Given the description of an element on the screen output the (x, y) to click on. 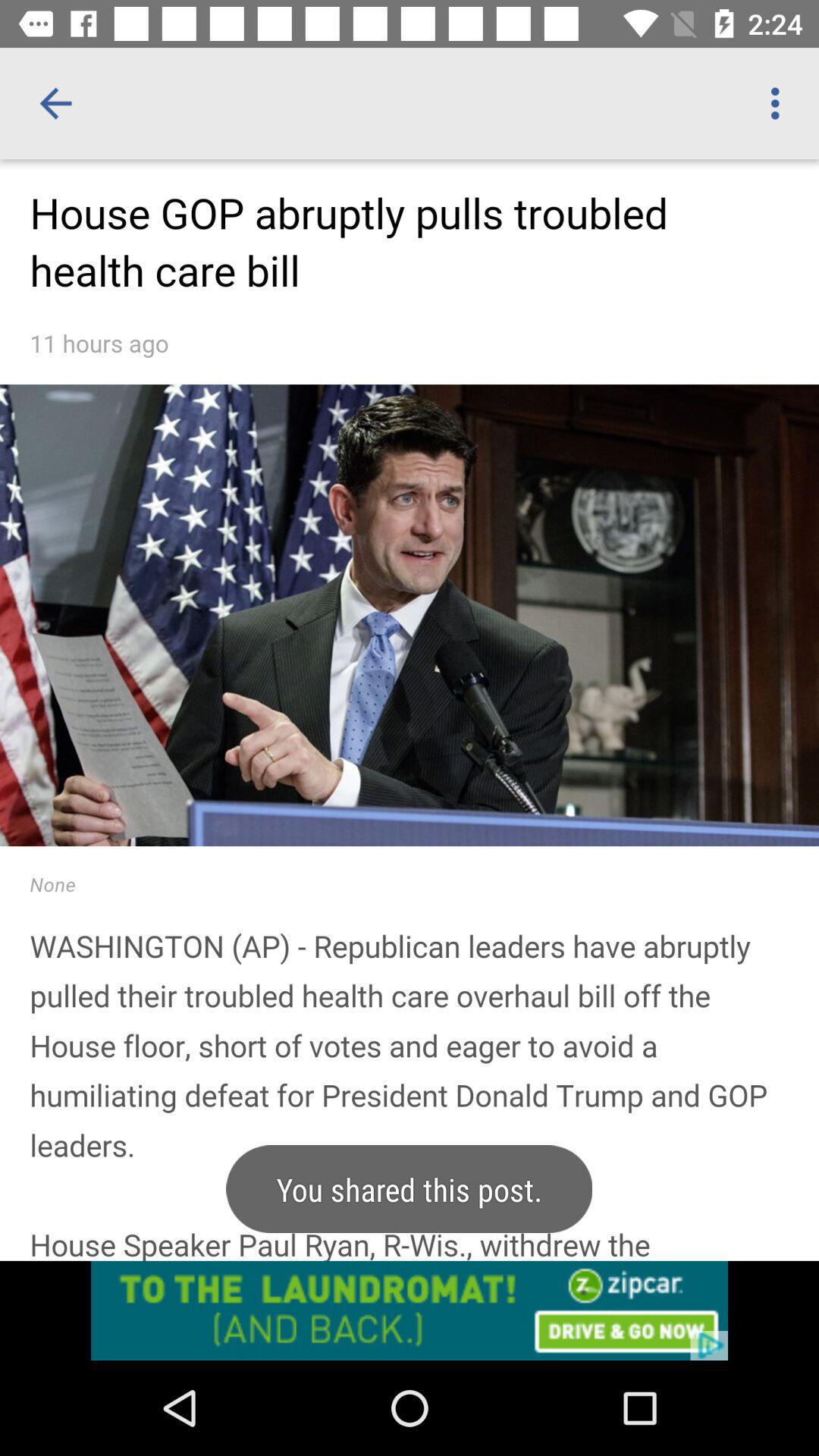
print screen (409, 759)
